Given the description of an element on the screen output the (x, y) to click on. 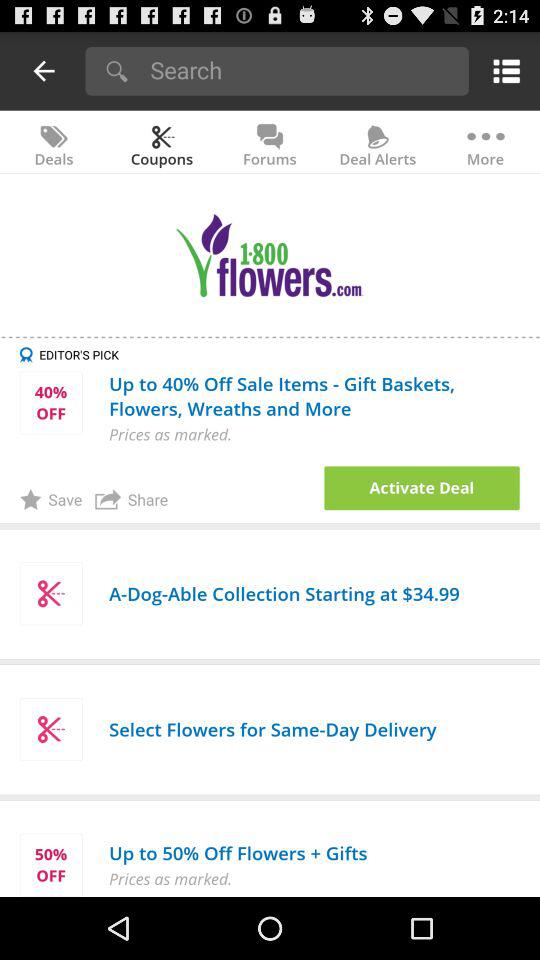
press item to the left of the share item (50, 499)
